Given the description of an element on the screen output the (x, y) to click on. 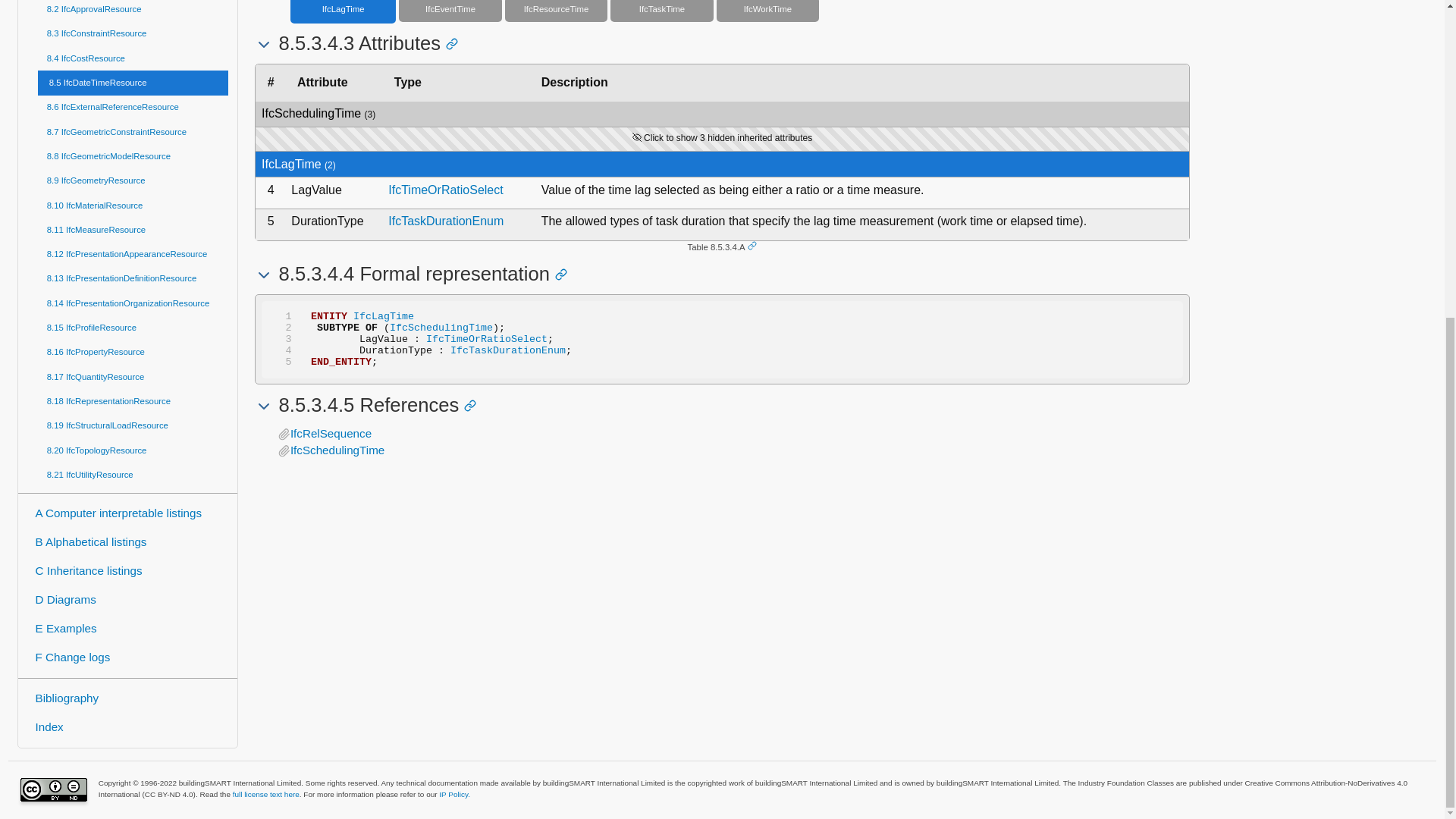
8.10 IfcMaterialResource (132, 205)
C Inheritance listings (127, 571)
8.8 IfcGeometricModelResource (132, 156)
8.4 IfcCostResource (132, 57)
8.14 IfcPresentationOrganizationResource (132, 303)
8.6 IfcExternalReferenceResource (132, 107)
8.17 IfcQuantityResource (132, 376)
8.20 IfcTopologyResource (132, 450)
8.19 IfcStructuralLoadResource (132, 426)
8.3 IfcConstraintResource (132, 33)
